Given the description of an element on the screen output the (x, y) to click on. 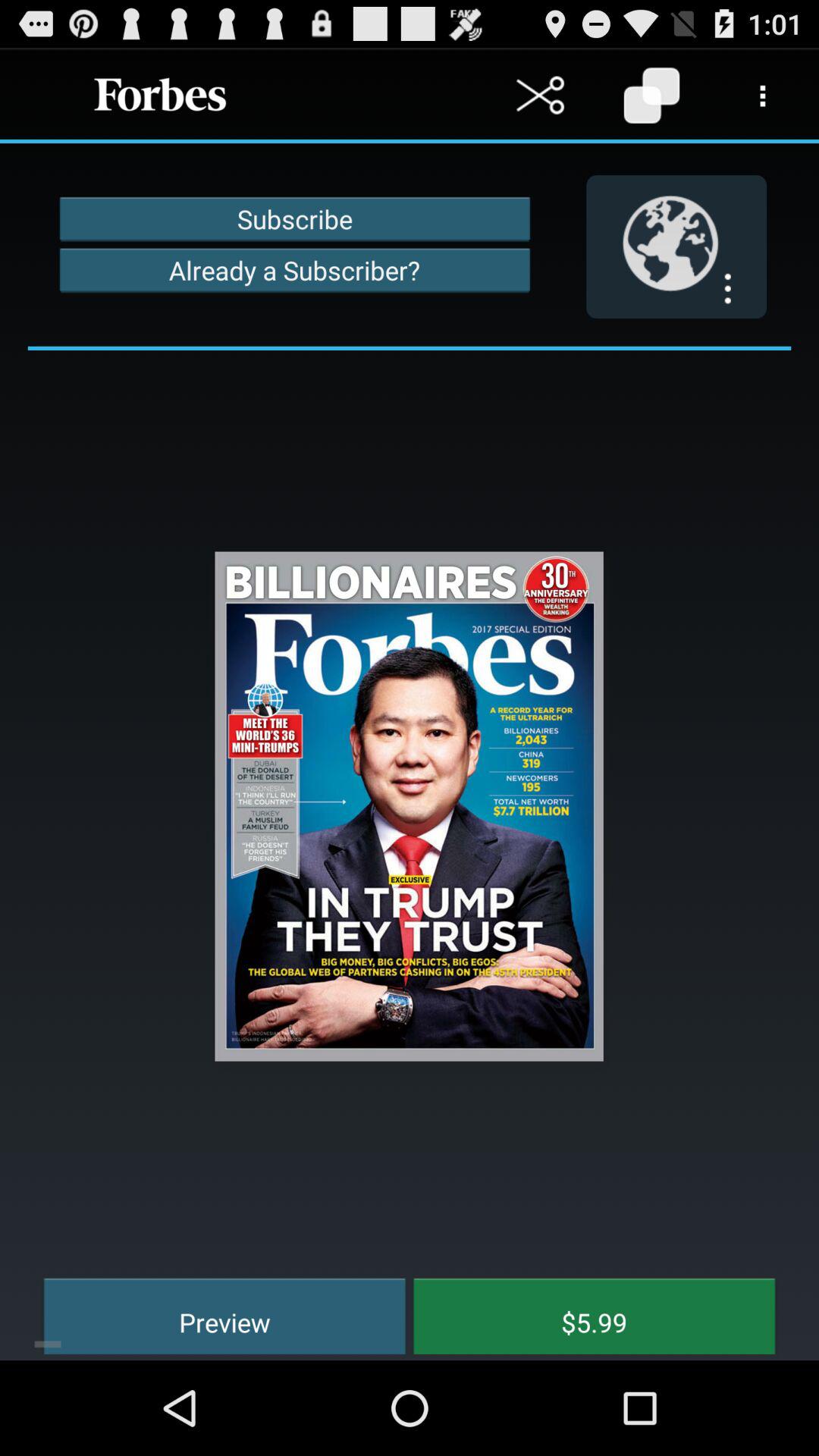
other options (763, 95)
